Given the description of an element on the screen output the (x, y) to click on. 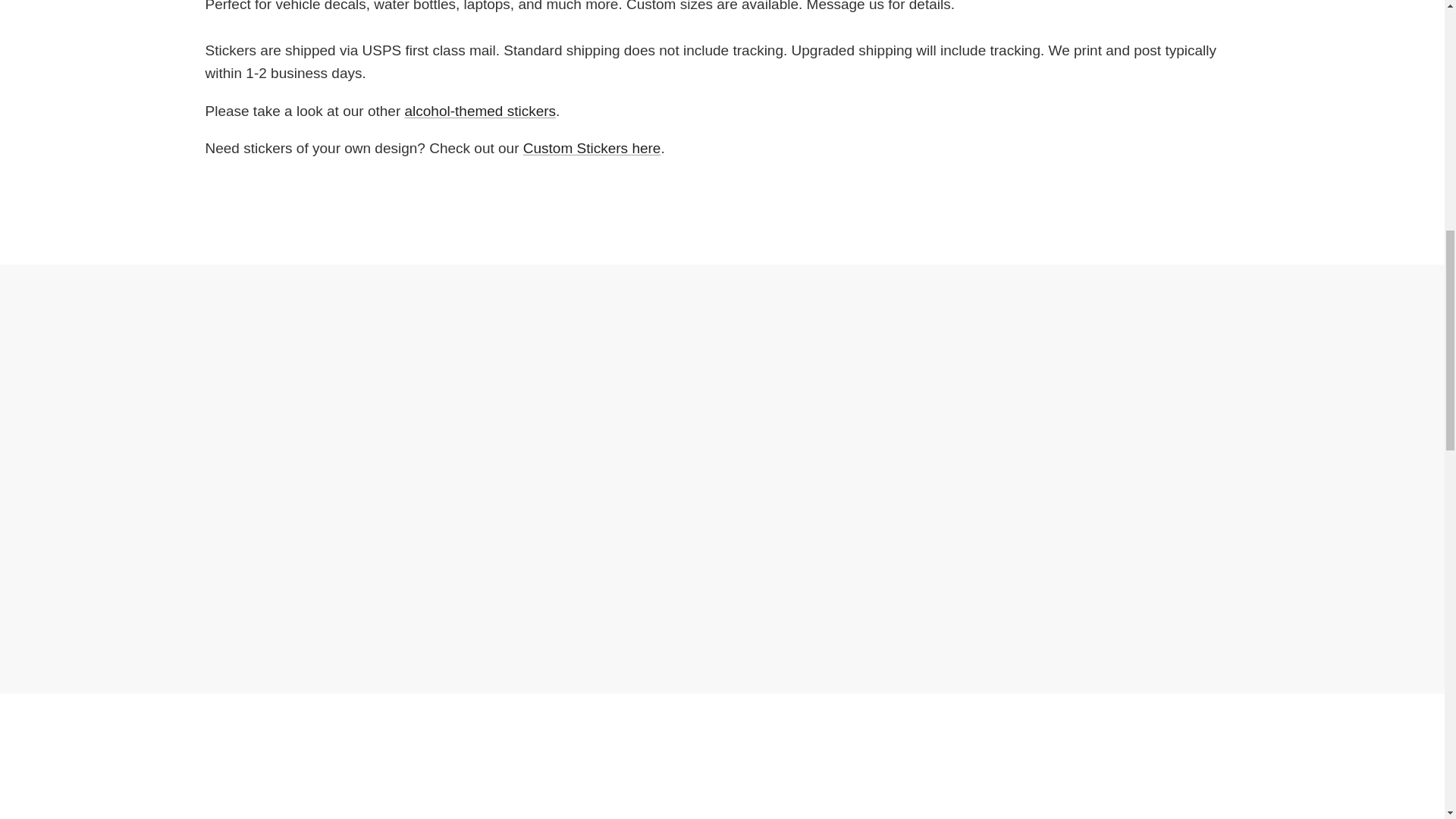
order custom sticker (591, 148)
